Given the description of an element on the screen output the (x, y) to click on. 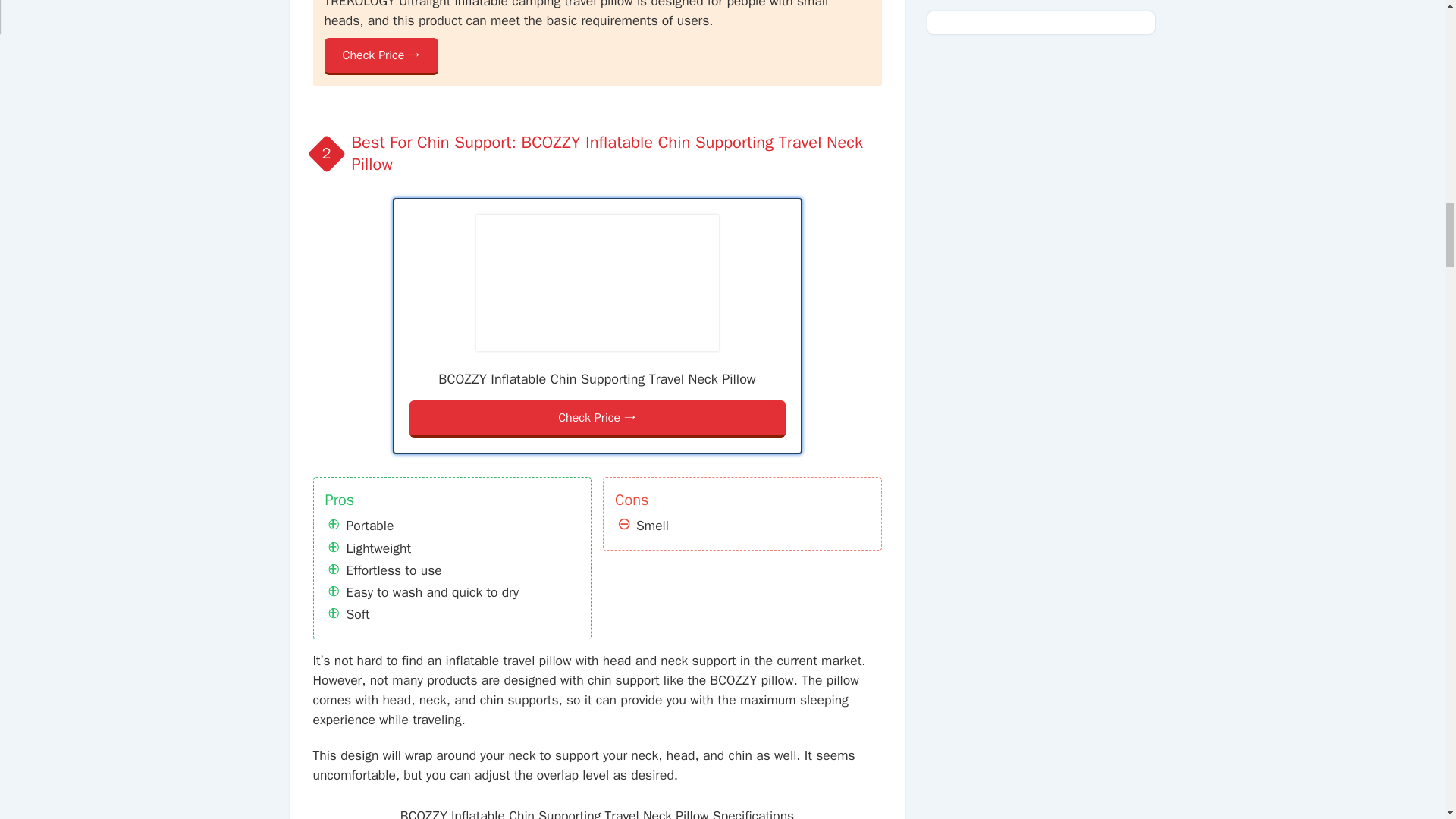
Check Price (597, 418)
Check Price (381, 56)
BCOZZY Inflatable Chin Supporting Travel Neck Pillow (597, 282)
